Given the description of an element on the screen output the (x, y) to click on. 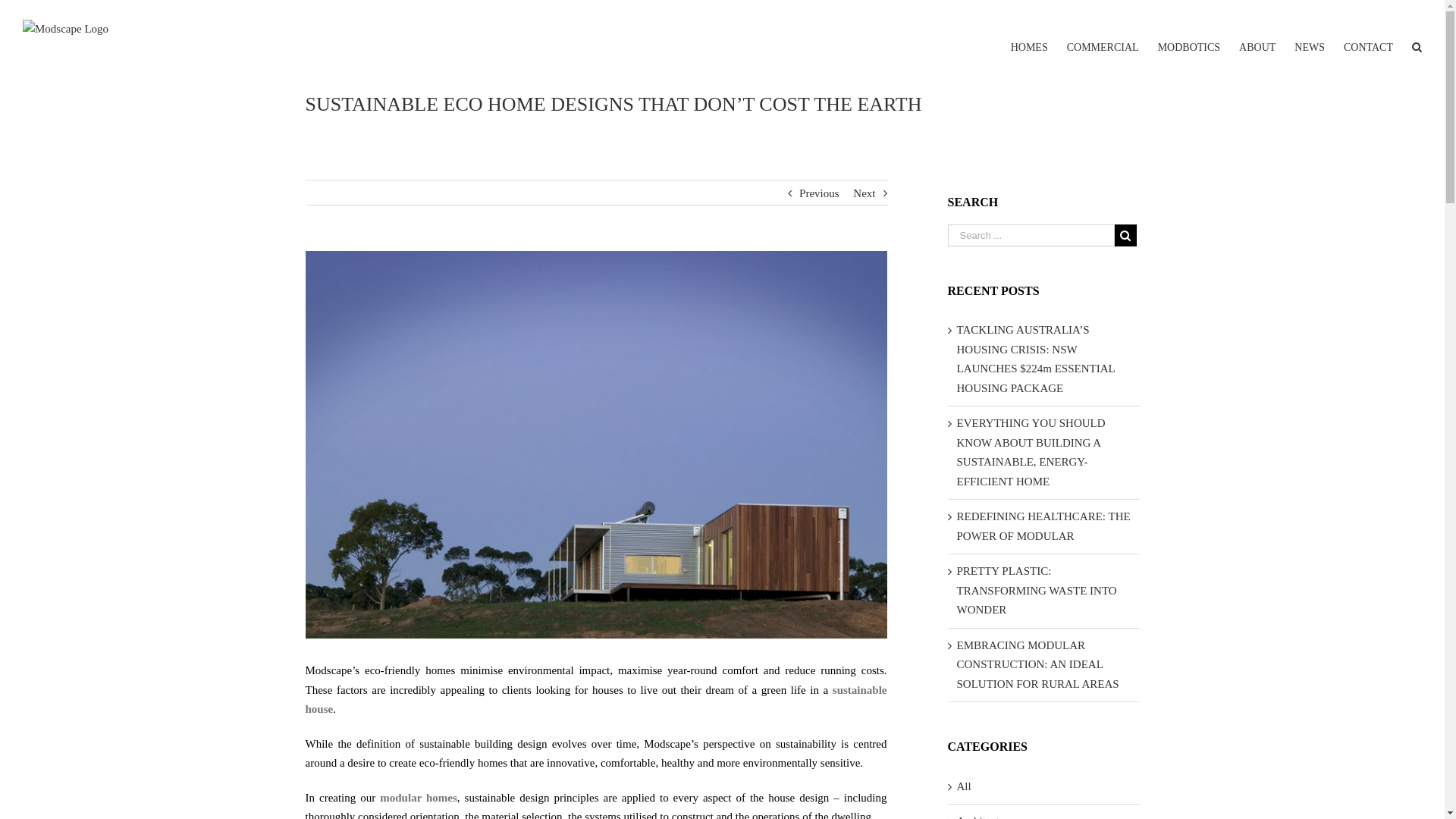
All Element type: text (1044, 787)
ABOUT Element type: text (1257, 36)
PRETTY PLASTIC: TRANSFORMING WASTE INTO WONDER Element type: text (1037, 589)
CONTACT Element type: text (1368, 36)
MODBOTICS Element type: text (1188, 36)
sustainable house Element type: text (595, 699)
HOMES Element type: text (1029, 36)
Next Element type: text (864, 193)
Search Element type: hover (1416, 36)
modular homes Element type: text (418, 797)
COMMERCIAL Element type: text (1102, 36)
View Larger Image Element type: text (595, 444)
Previous Element type: text (819, 193)
NEWS Element type: text (1309, 36)
REDEFINING HEALTHCARE: THE POWER OF MODULAR Element type: text (1043, 526)
